Given the description of an element on the screen output the (x, y) to click on. 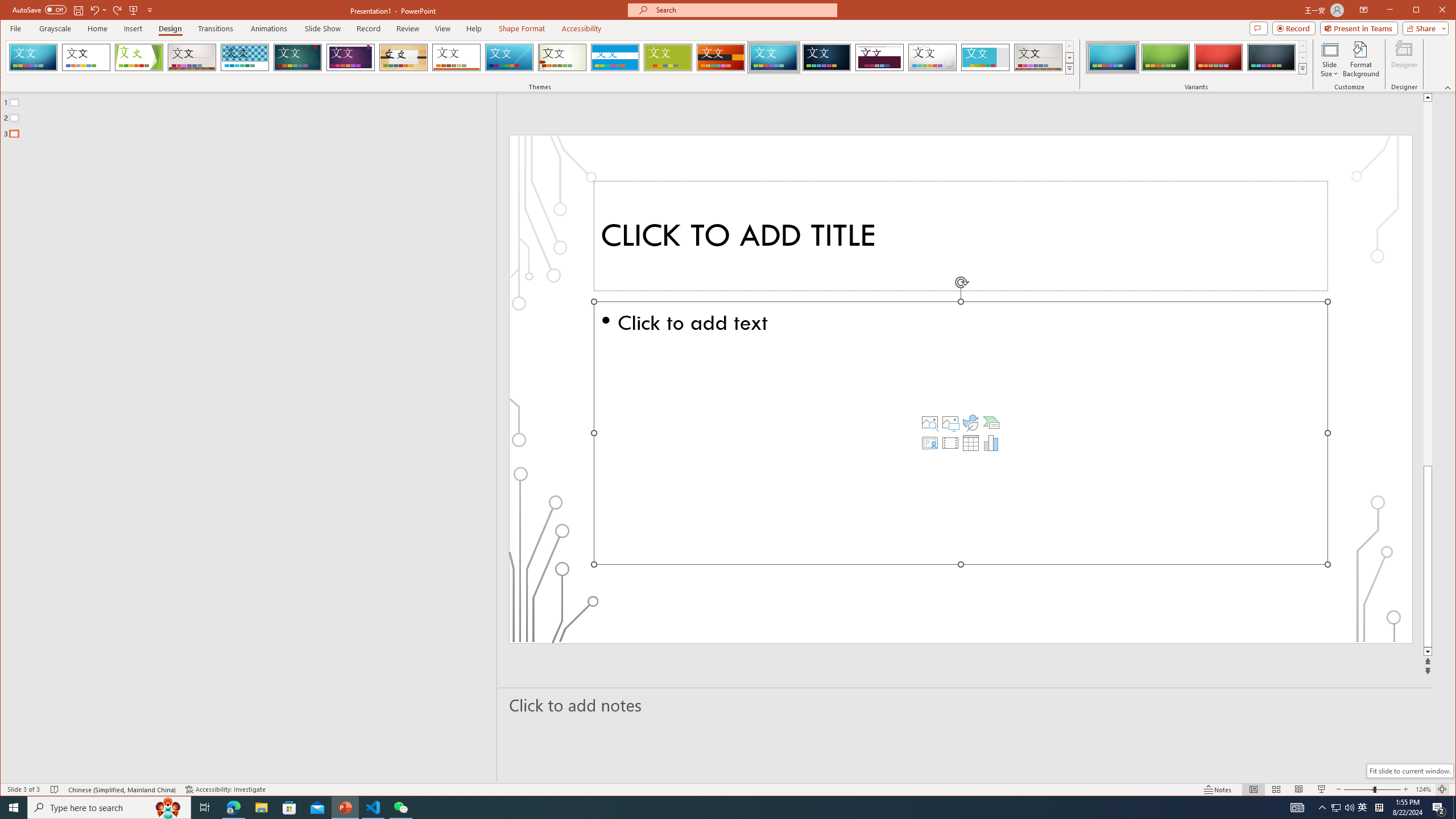
Berlin (720, 57)
Content Placeholder (960, 433)
